Given the description of an element on the screen output the (x, y) to click on. 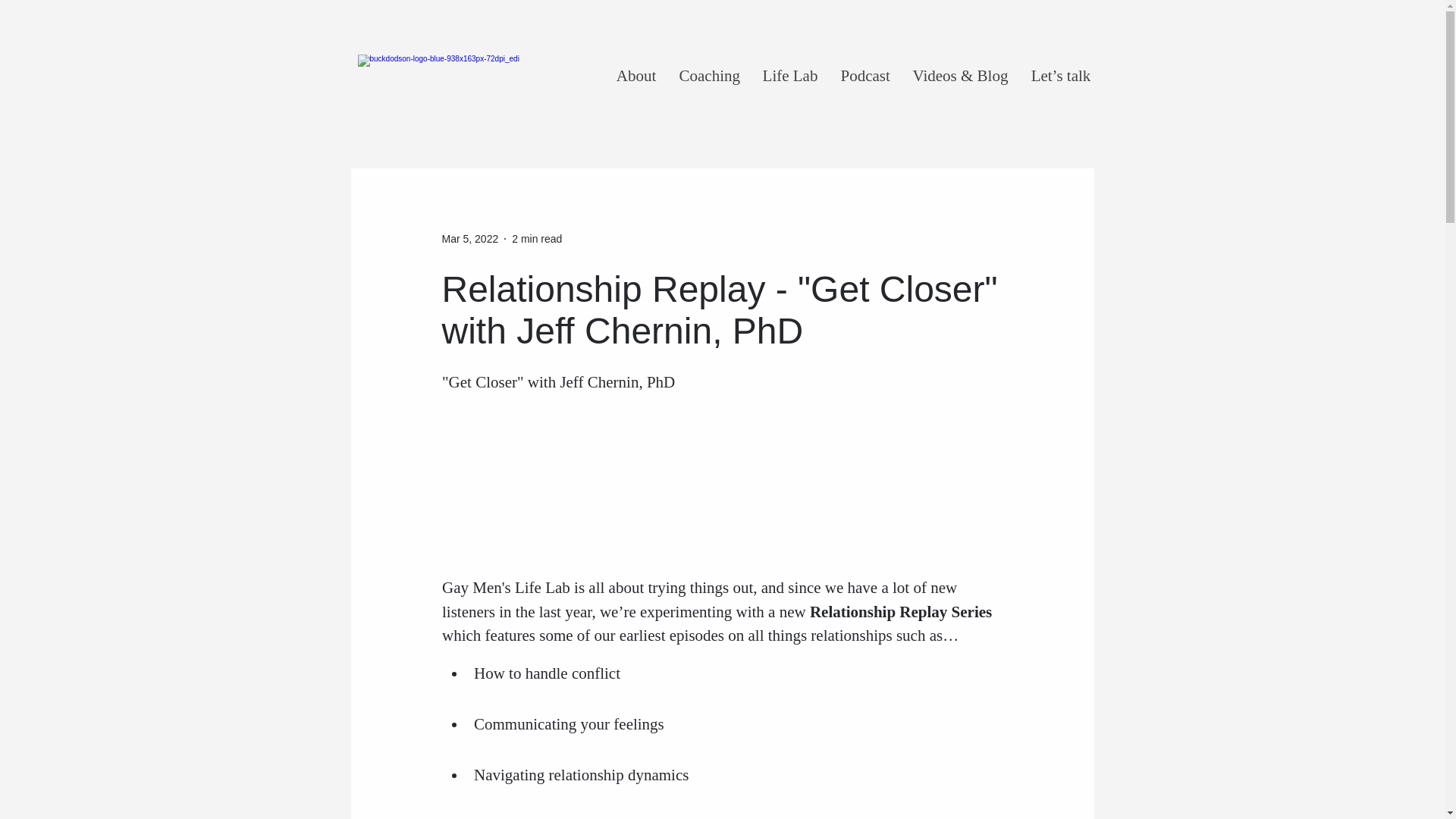
2 min read (537, 237)
Life Lab (789, 73)
Mar 5, 2022 (469, 237)
About (636, 73)
Coaching (708, 73)
Podcast (865, 73)
